Given the description of an element on the screen output the (x, y) to click on. 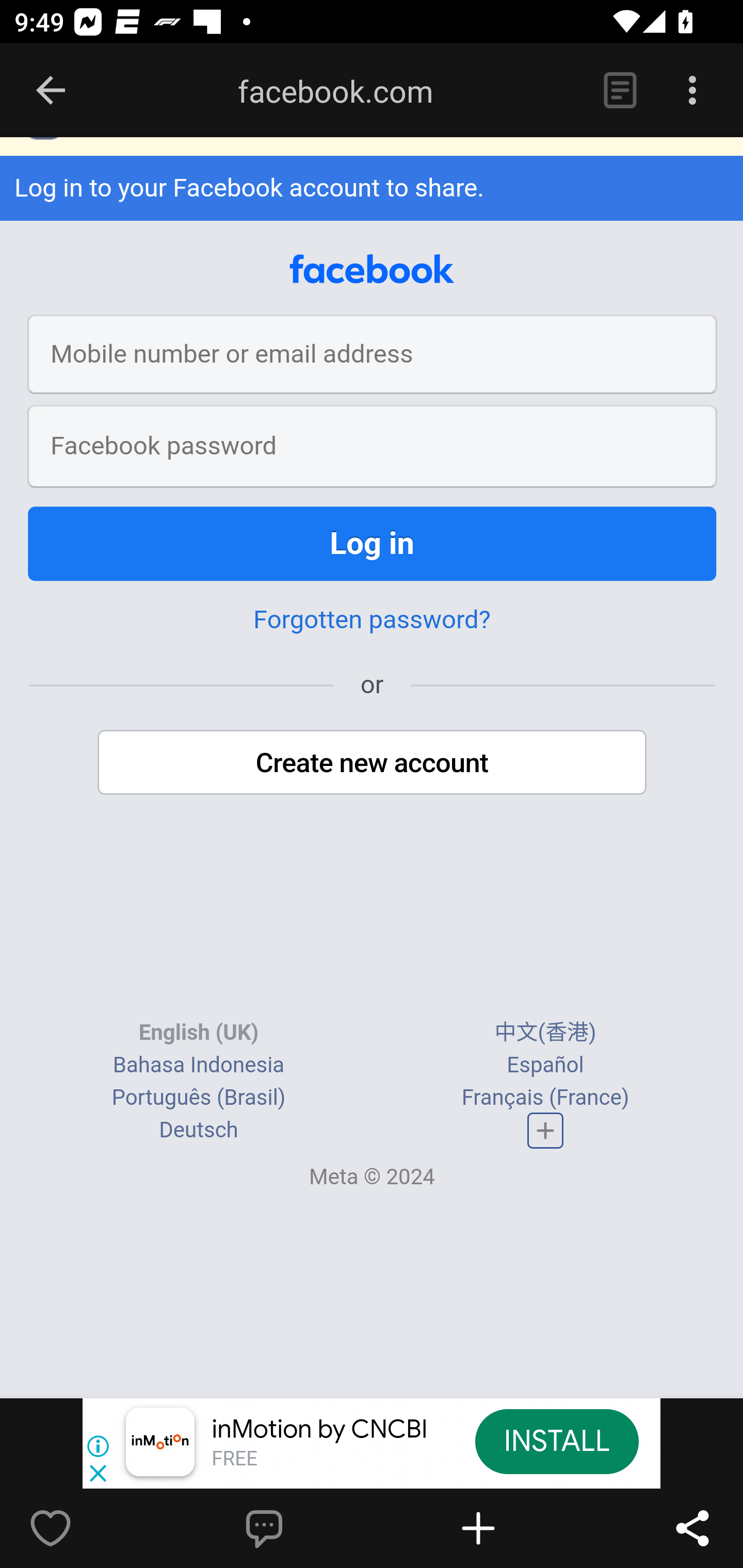
Back (50, 90)
Reader View (619, 90)
Options (692, 90)
facebook (372, 270)
Log in (372, 544)
Forgotten password? (371, 620)
Create new account (372, 763)
中文(香港) (544, 1033)
Bahasa Indonesia (198, 1065)
Español (545, 1065)
Português (Brasil) (197, 1098)
Français (France) (544, 1098)
Complete list of languages (545, 1130)
Deutsch (198, 1130)
INSTALL (556, 1441)
inMotion by CNCBI (319, 1429)
FREE (234, 1459)
Like (93, 1528)
Write a comment… (307, 1528)
Flip into Magazine (521, 1528)
Share (692, 1528)
